Given the description of an element on the screen output the (x, y) to click on. 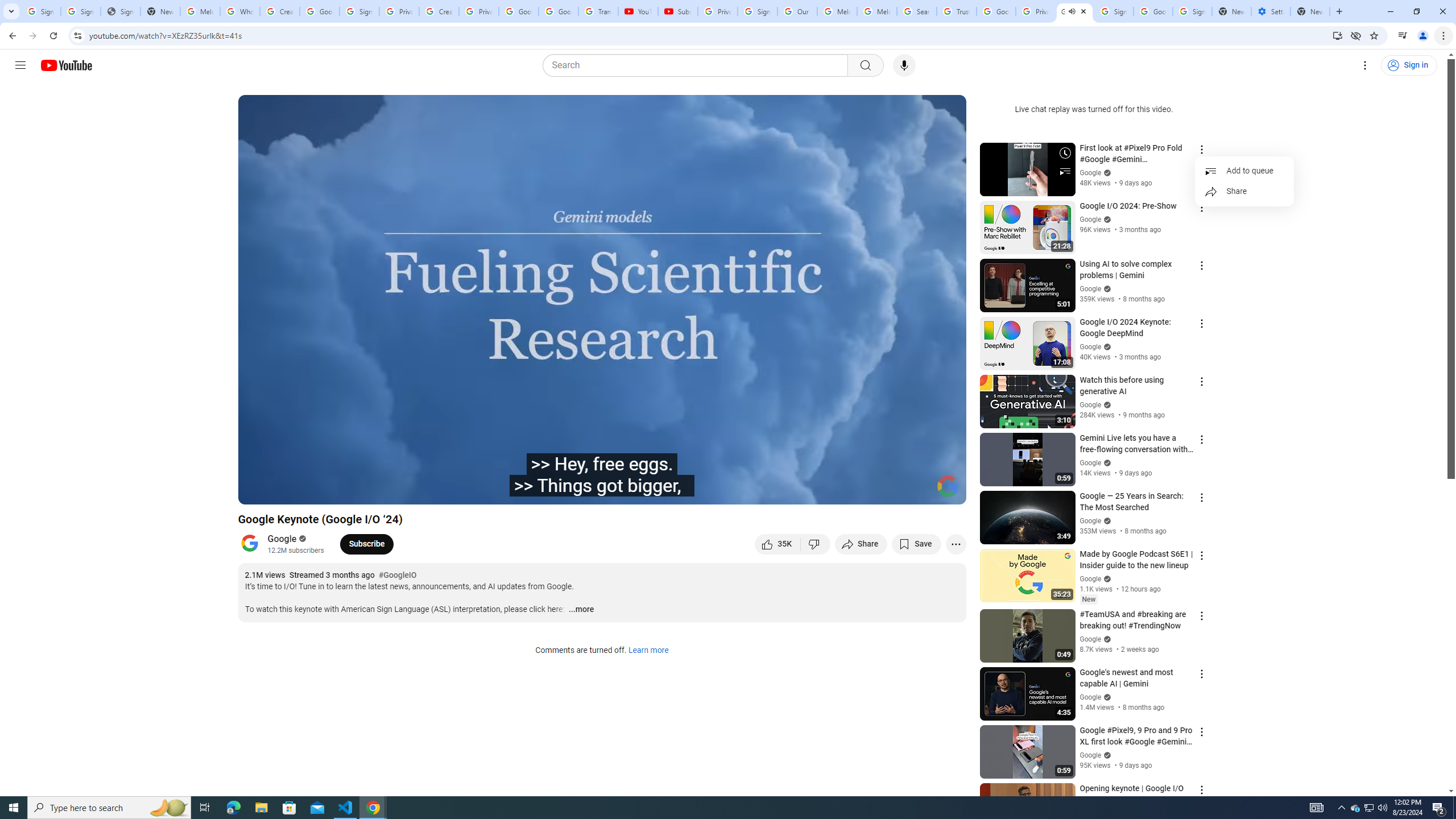
Sign in - Google Accounts (359, 11)
Full screen (f) (945, 490)
Save to playlist (915, 543)
Google Account (557, 11)
